Given the description of an element on the screen output the (x, y) to click on. 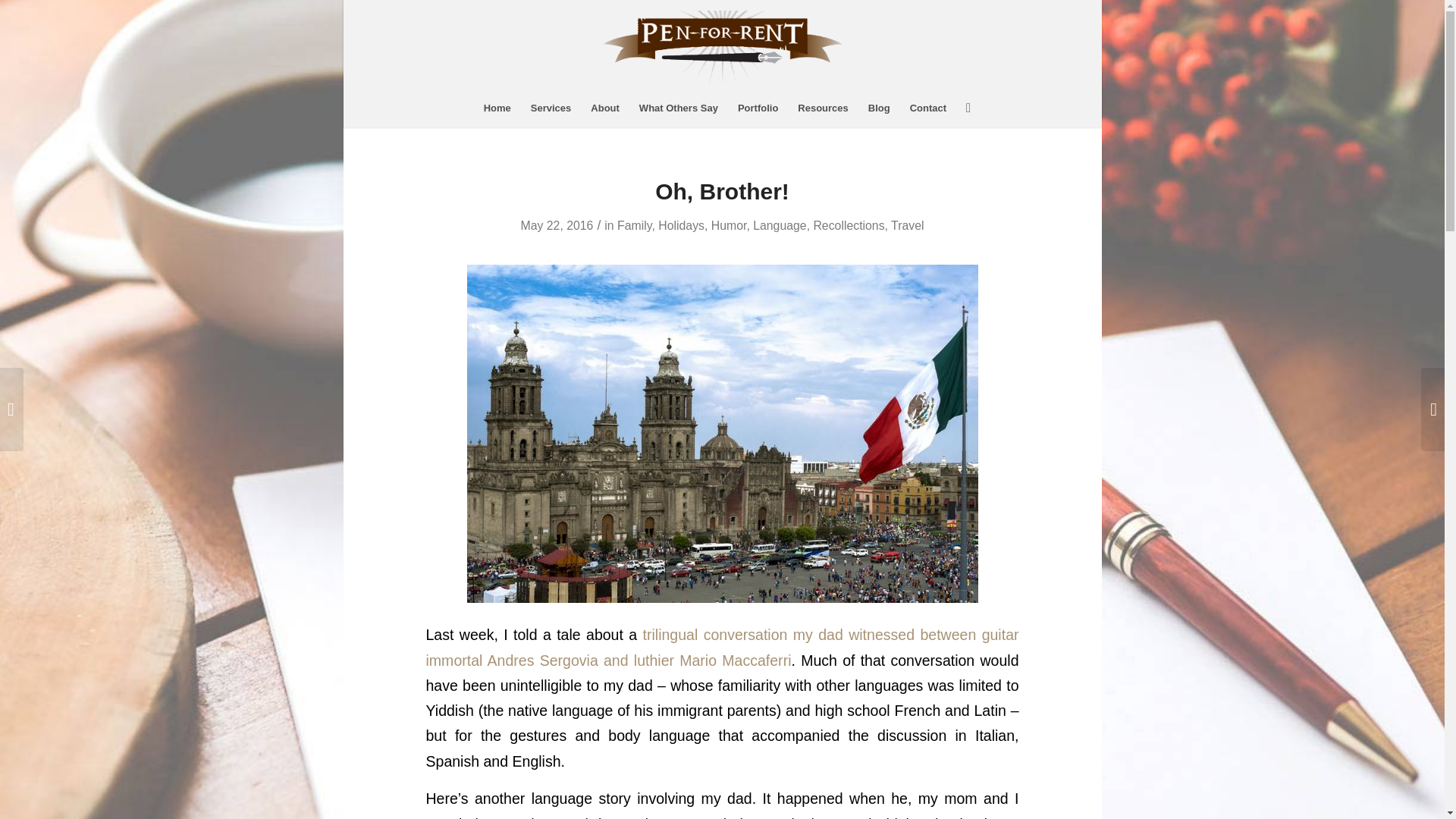
Start Here (497, 108)
Home (497, 108)
Holidays (681, 225)
Humor (728, 225)
About (604, 108)
What Others Say (678, 108)
Services (550, 108)
Family (633, 225)
